Given the description of an element on the screen output the (x, y) to click on. 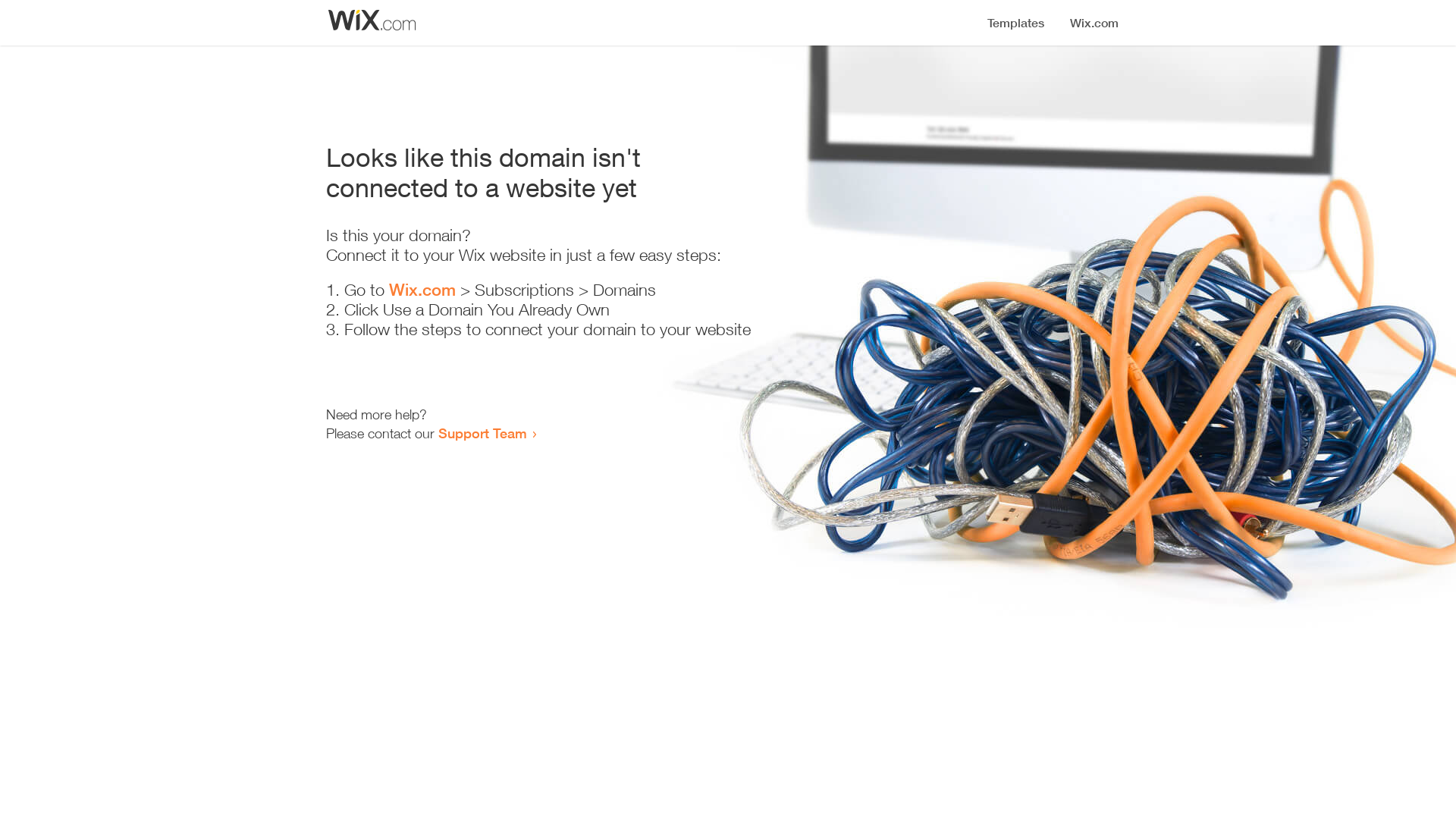
Support Team Element type: text (482, 432)
Wix.com Element type: text (422, 289)
